Given the description of an element on the screen output the (x, y) to click on. 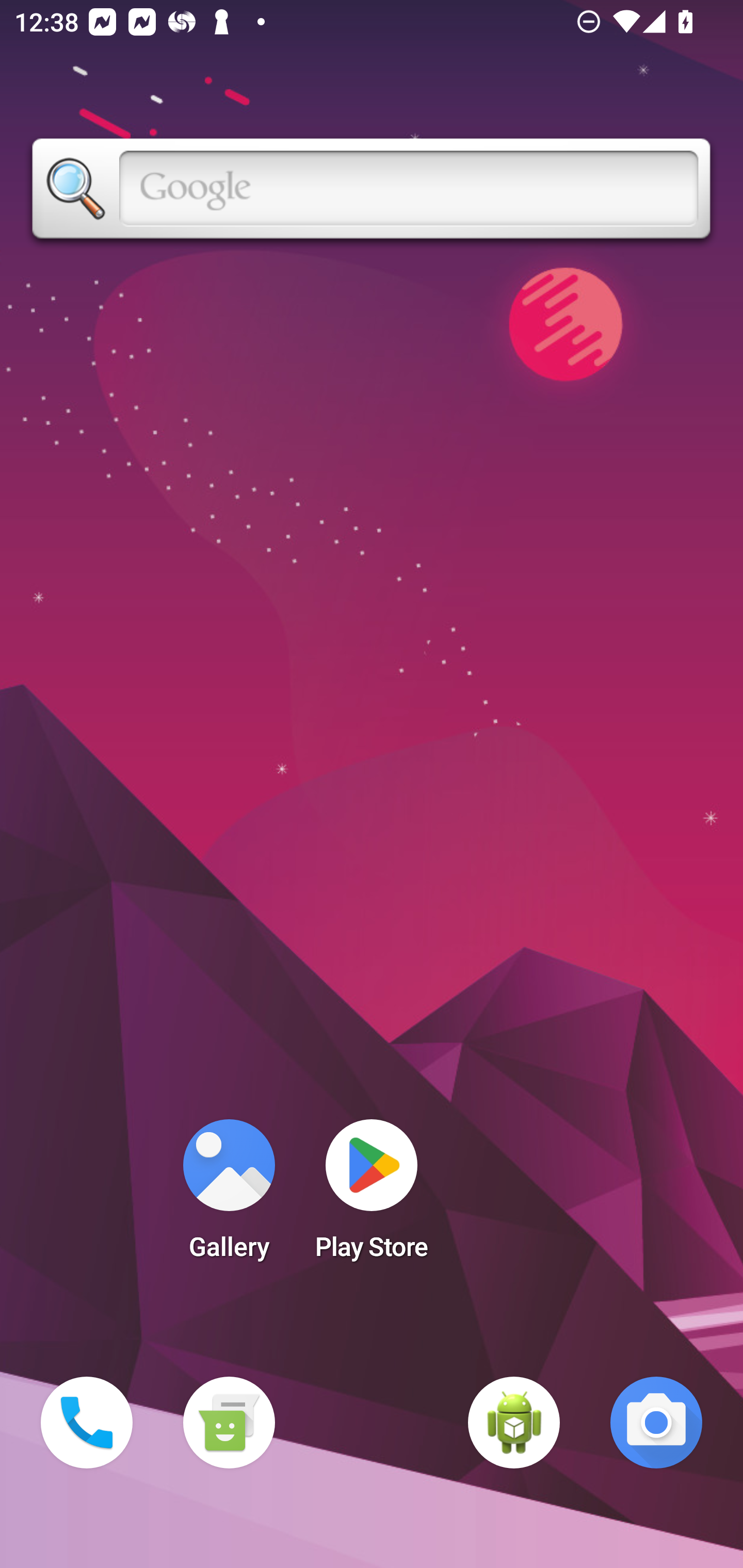
Gallery (228, 1195)
Play Store (371, 1195)
Phone (86, 1422)
Messaging (228, 1422)
WebView Browser Tester (513, 1422)
Camera (656, 1422)
